Given the description of an element on the screen output the (x, y) to click on. 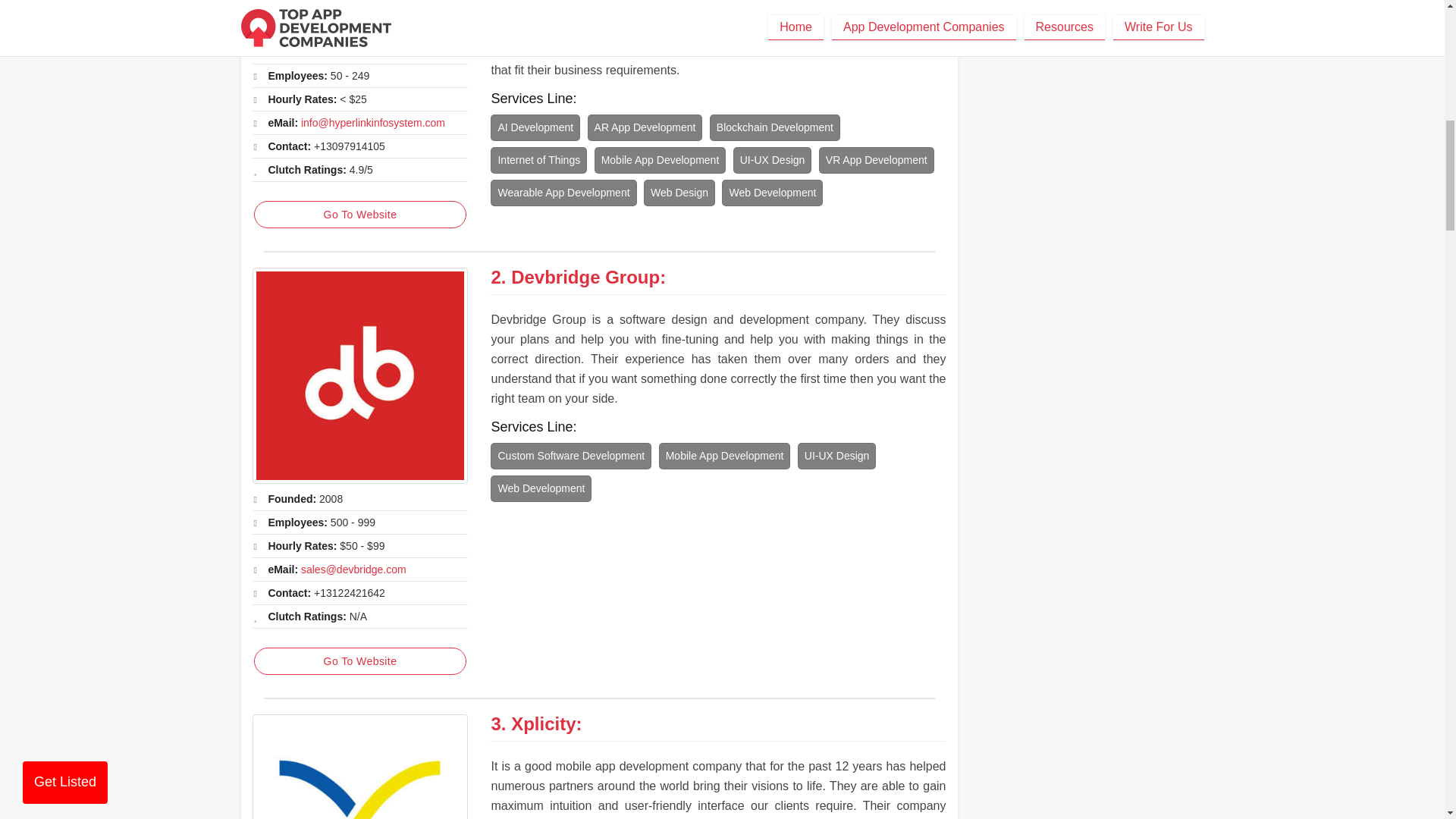
Go To Website (359, 214)
Devbridge Group (585, 276)
Devbridge Group (359, 375)
Xplicity (543, 723)
Hyperlink InfoSystem (359, 18)
Xplicity (359, 766)
Go To Website (359, 660)
